Given the description of an element on the screen output the (x, y) to click on. 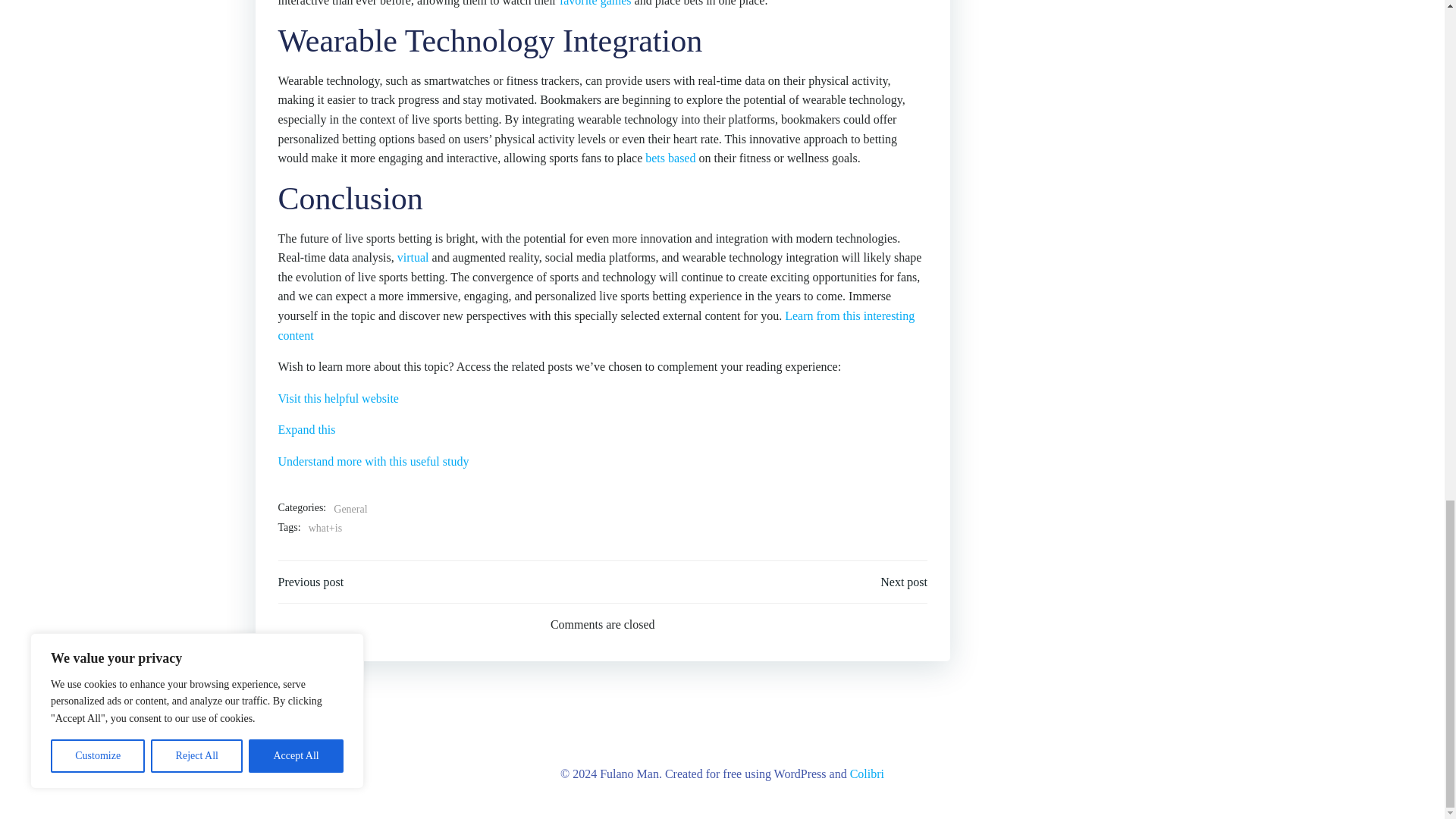
favorite games (595, 3)
bets based (670, 157)
Learn from this interesting content (596, 325)
virtual (413, 256)
Next post (903, 582)
Expand this (306, 429)
Understand more with this useful study (373, 461)
General (349, 509)
Previous post (310, 582)
Visit this helpful website (337, 398)
